Given the description of an element on the screen output the (x, y) to click on. 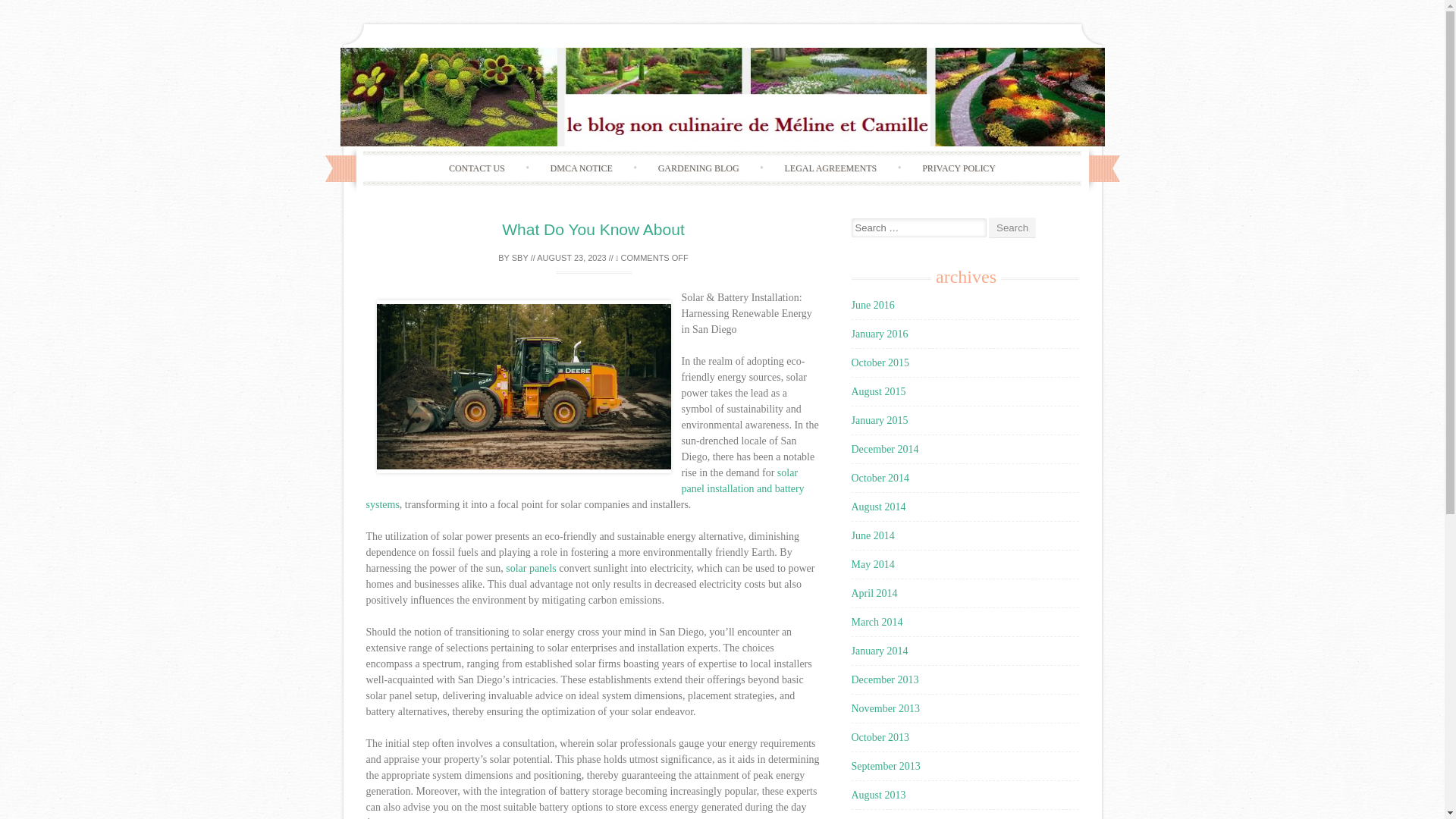
What Do You Know About (593, 229)
View all posts by sby (520, 257)
March 2014 (876, 622)
GARDENING BLOG (698, 167)
solar panels (530, 568)
PRIVACY POLICY (958, 167)
DMCA NOTICE (581, 167)
August 2014 (877, 506)
July 2013 (871, 818)
November 2013 (885, 708)
